Given the description of an element on the screen output the (x, y) to click on. 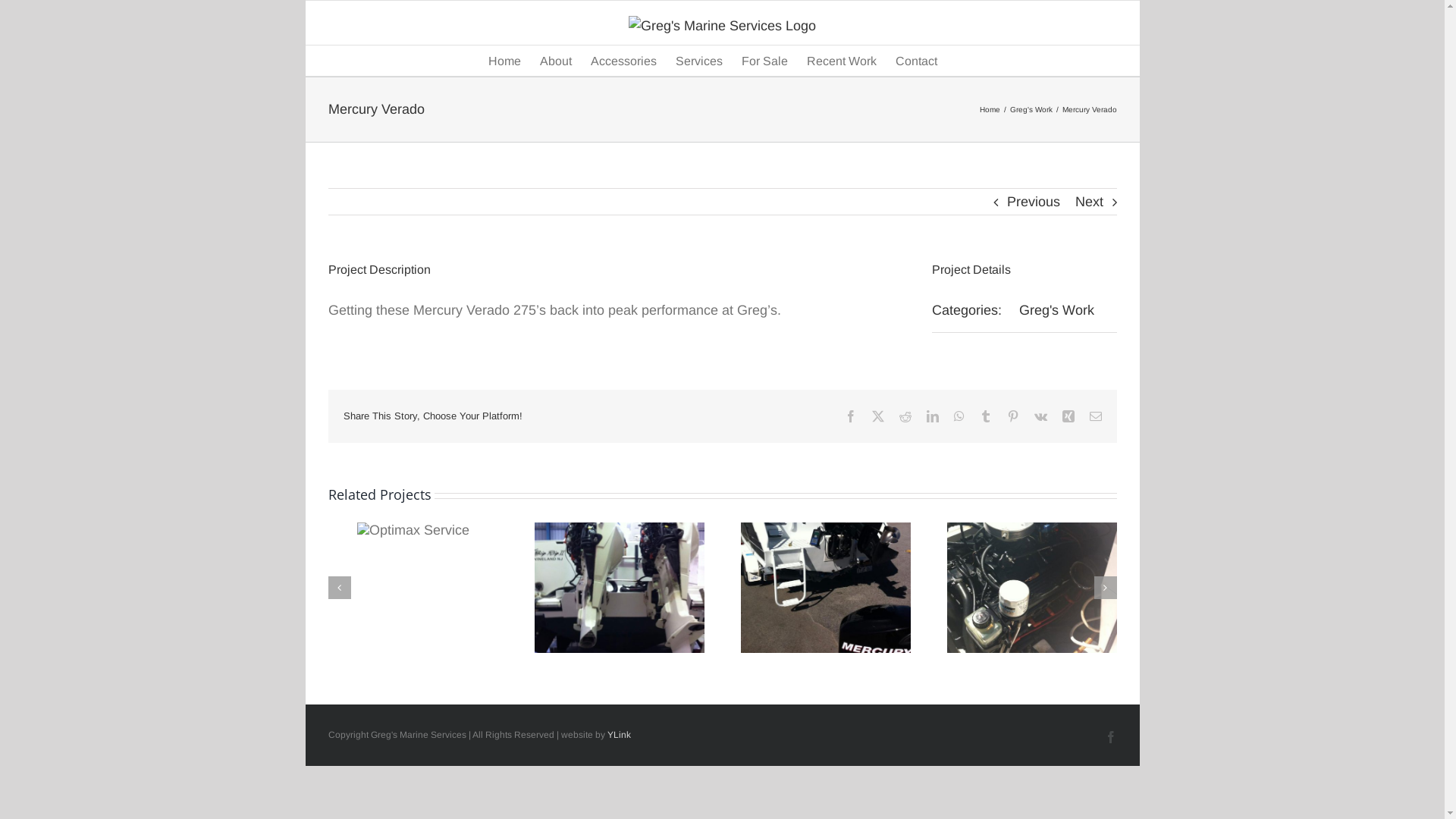
Next Element type: text (1089, 201)
YLink Element type: text (618, 734)
Vk Element type: text (1040, 416)
Email Element type: text (1094, 416)
Pinterest Element type: text (1013, 416)
Recent Work Element type: text (841, 60)
Facebook Element type: text (1110, 737)
Reddit Element type: text (905, 416)
About Element type: text (555, 60)
Tumblr Element type: text (985, 416)
Home Element type: text (504, 60)
Twitter Element type: text (878, 416)
For Sale Element type: text (764, 60)
LinkedIn Element type: text (932, 416)
Contact Element type: text (916, 60)
Previous Element type: text (1033, 201)
Home Element type: text (989, 109)
WhatsApp Element type: text (958, 416)
Greg's Work Element type: text (1056, 309)
Greg's Work Element type: text (1031, 109)
Xing Element type: text (1067, 416)
Facebook Element type: text (850, 416)
Services Element type: text (698, 60)
Accessories Element type: text (623, 60)
